Given the description of an element on the screen output the (x, y) to click on. 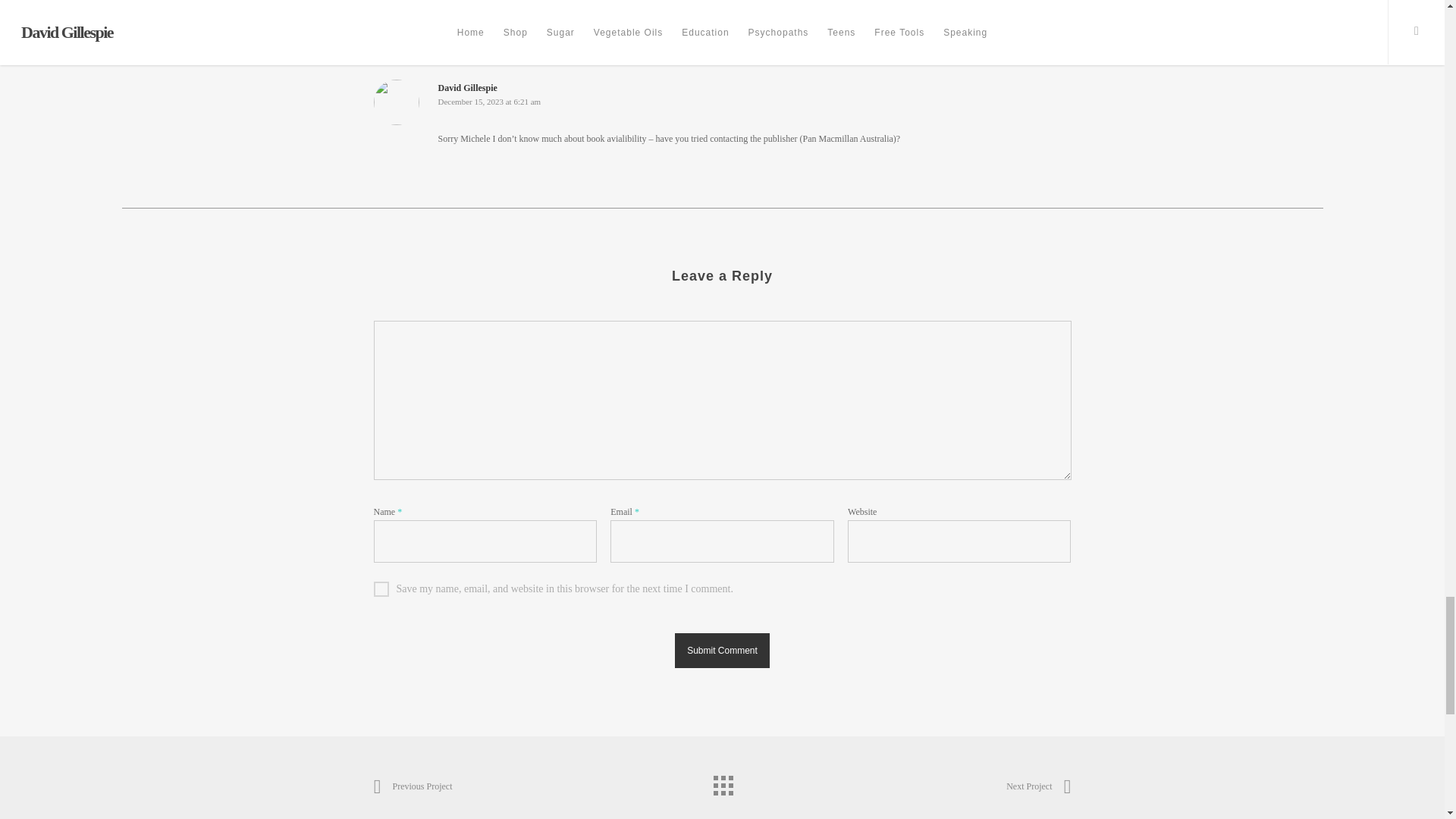
Submit Comment (722, 650)
Back to all projects (721, 781)
